Given the description of an element on the screen output the (x, y) to click on. 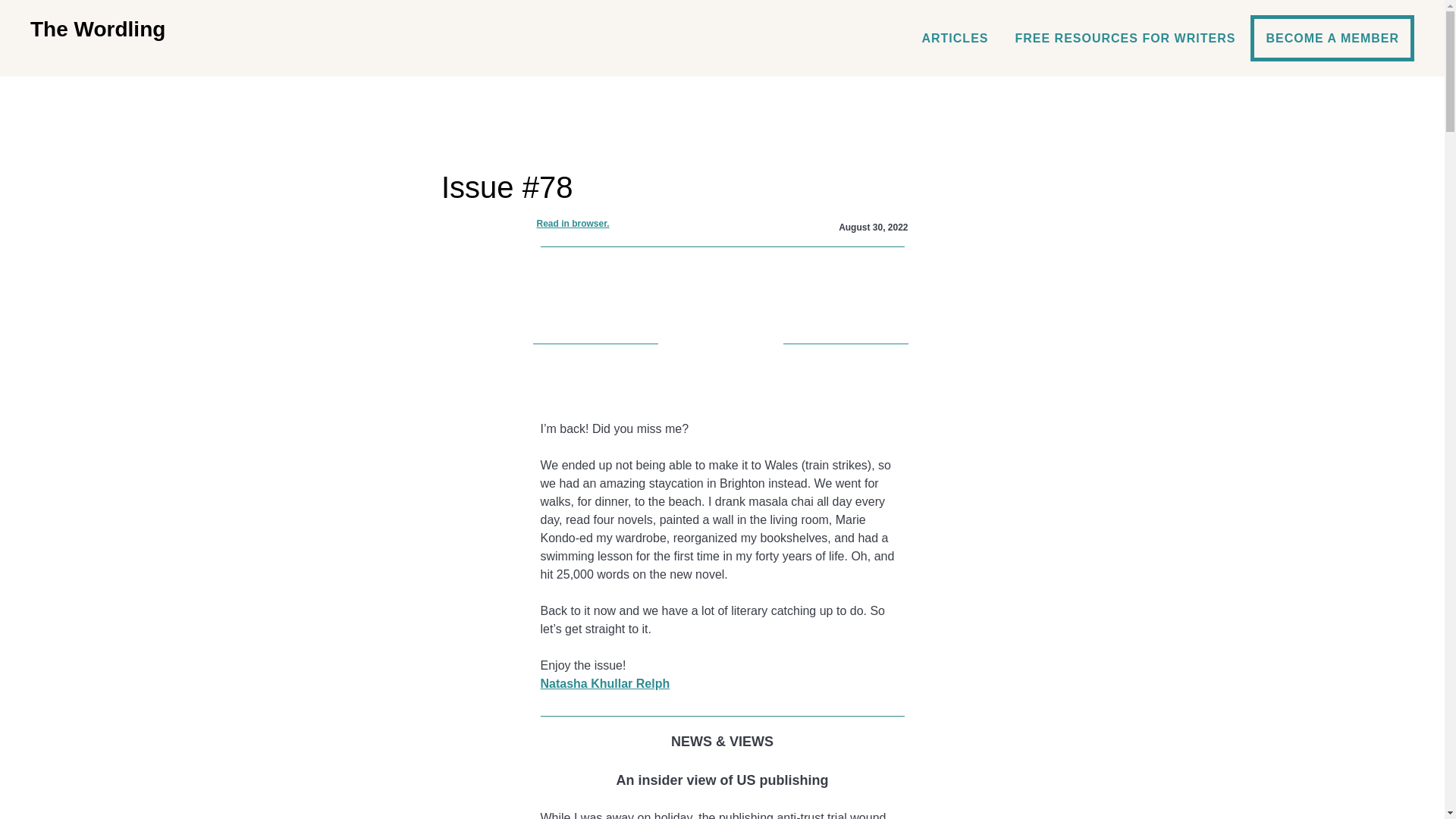
ARTICLES (954, 37)
The Wordling (97, 28)
E-Mail (721, 392)
Read in browser. (573, 222)
BECOME A MEMBER (1331, 37)
FREE RESOURCES FOR WRITERS (1124, 37)
facebook (721, 344)
twitter (721, 368)
Natasha Khullar Relph (604, 683)
